Given the description of an element on the screen output the (x, y) to click on. 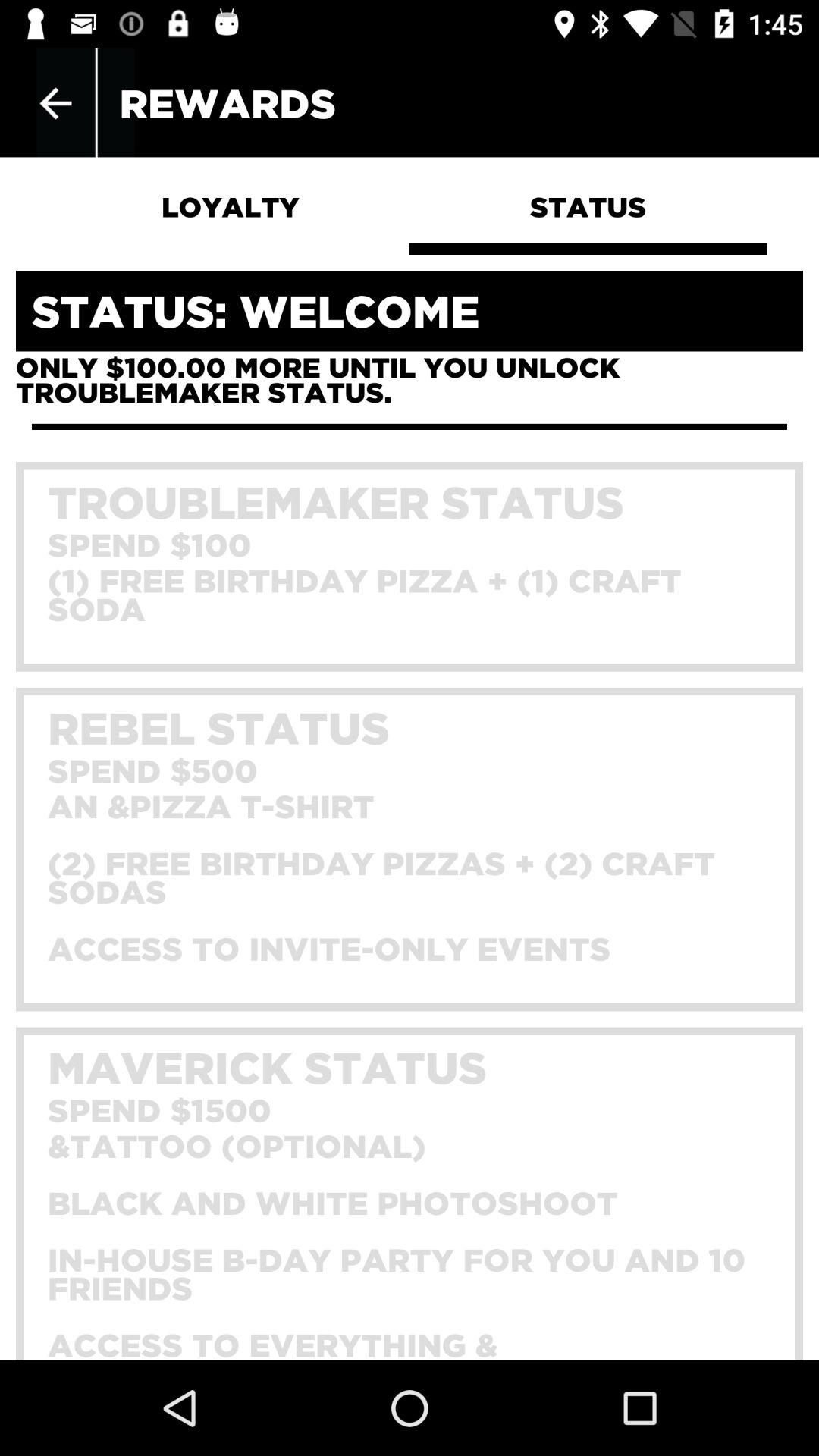
press icon above status: welcome item (55, 103)
